Given the description of an element on the screen output the (x, y) to click on. 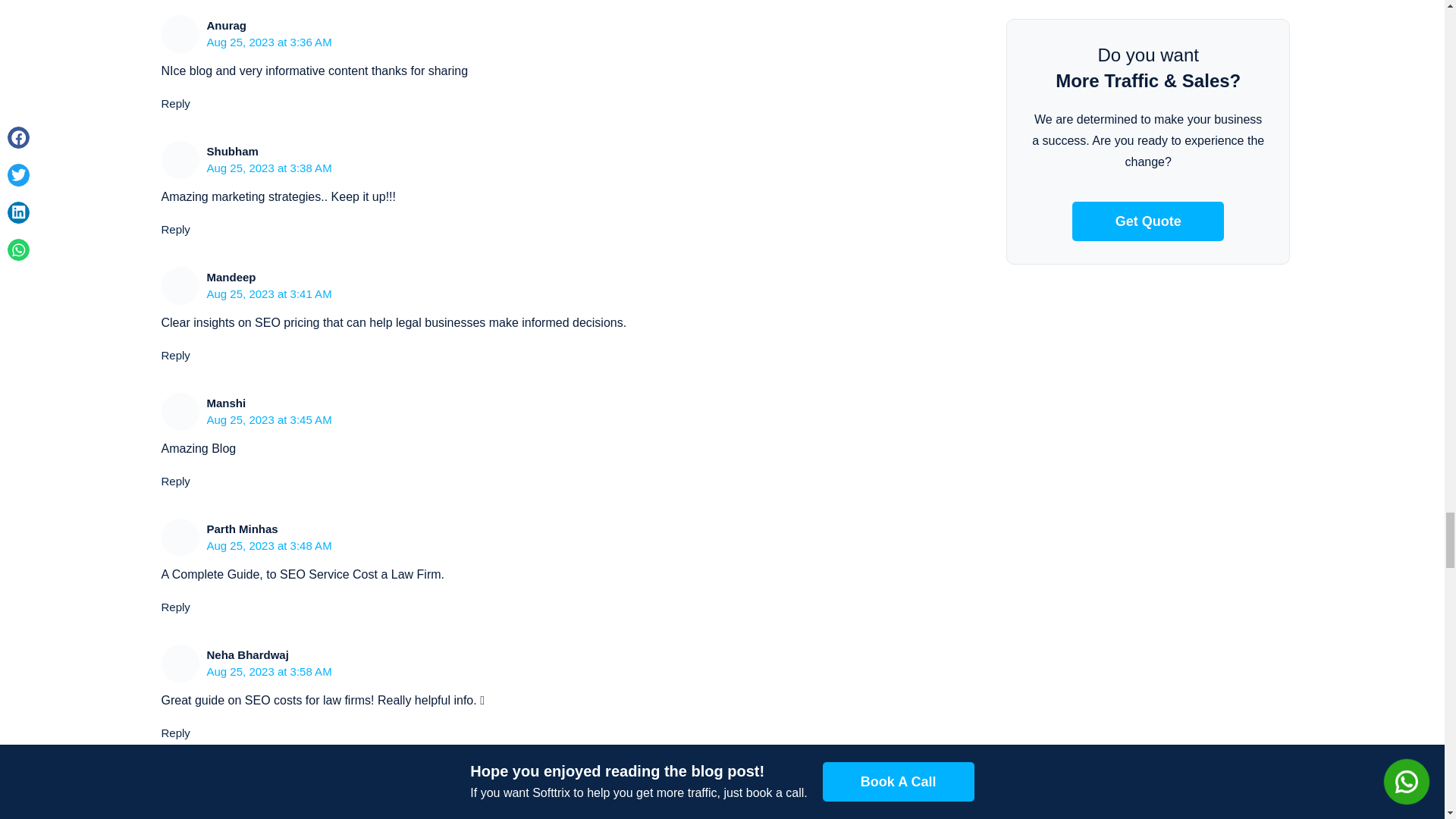
Reply (174, 103)
Reply (174, 228)
Reply (174, 354)
Reply (174, 481)
Reply (174, 732)
Reply (174, 606)
